Given the description of an element on the screen output the (x, y) to click on. 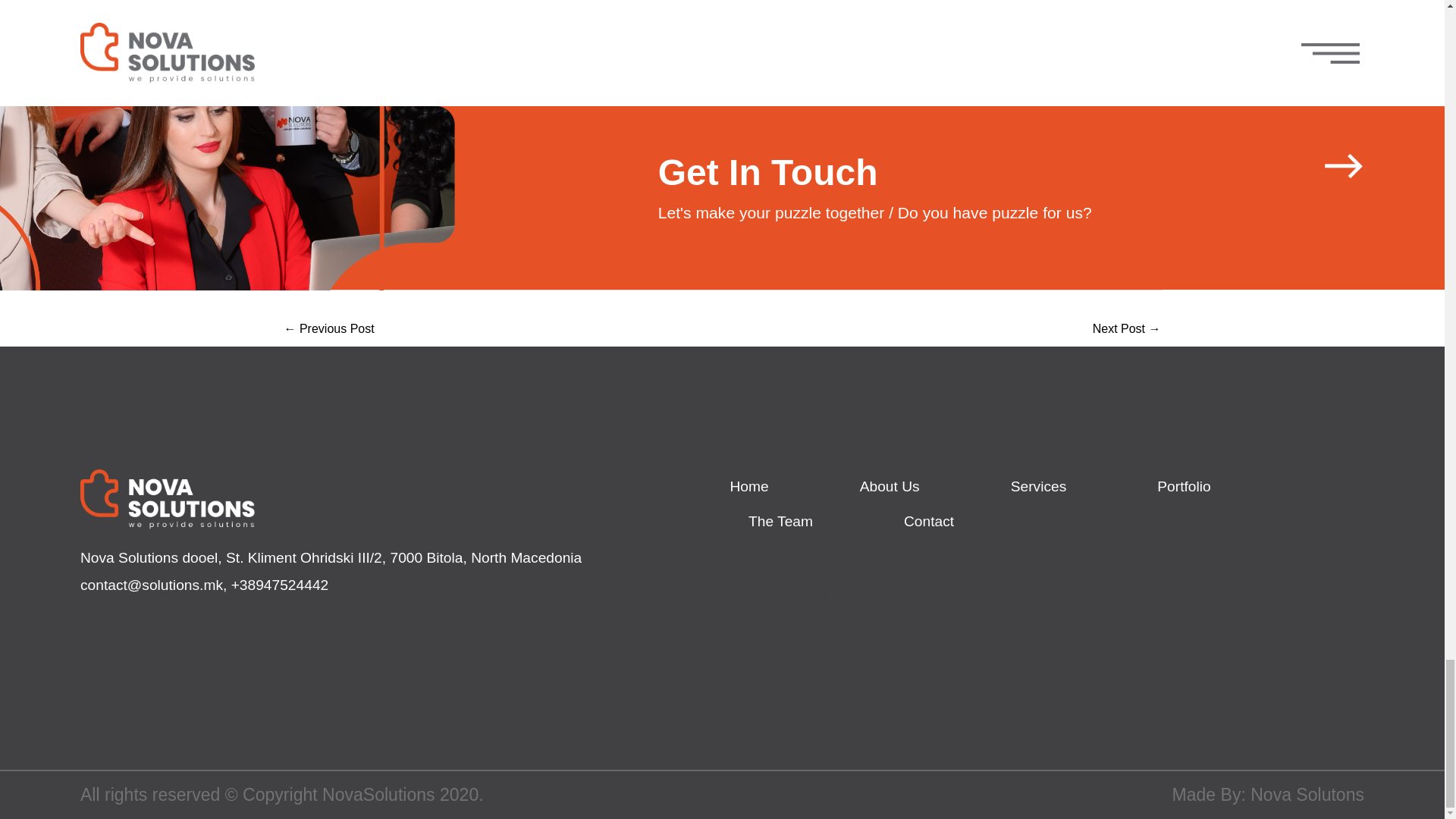
Portfolio (1183, 486)
Facebook (748, 592)
Elitte caffe (328, 329)
Home (748, 486)
Jumis (1126, 329)
Instagram (823, 592)
Contact (928, 521)
The Team (780, 521)
About Us (890, 486)
Linkedin (897, 592)
Services (1038, 486)
Get In Touch (767, 172)
